Given the description of an element on the screen output the (x, y) to click on. 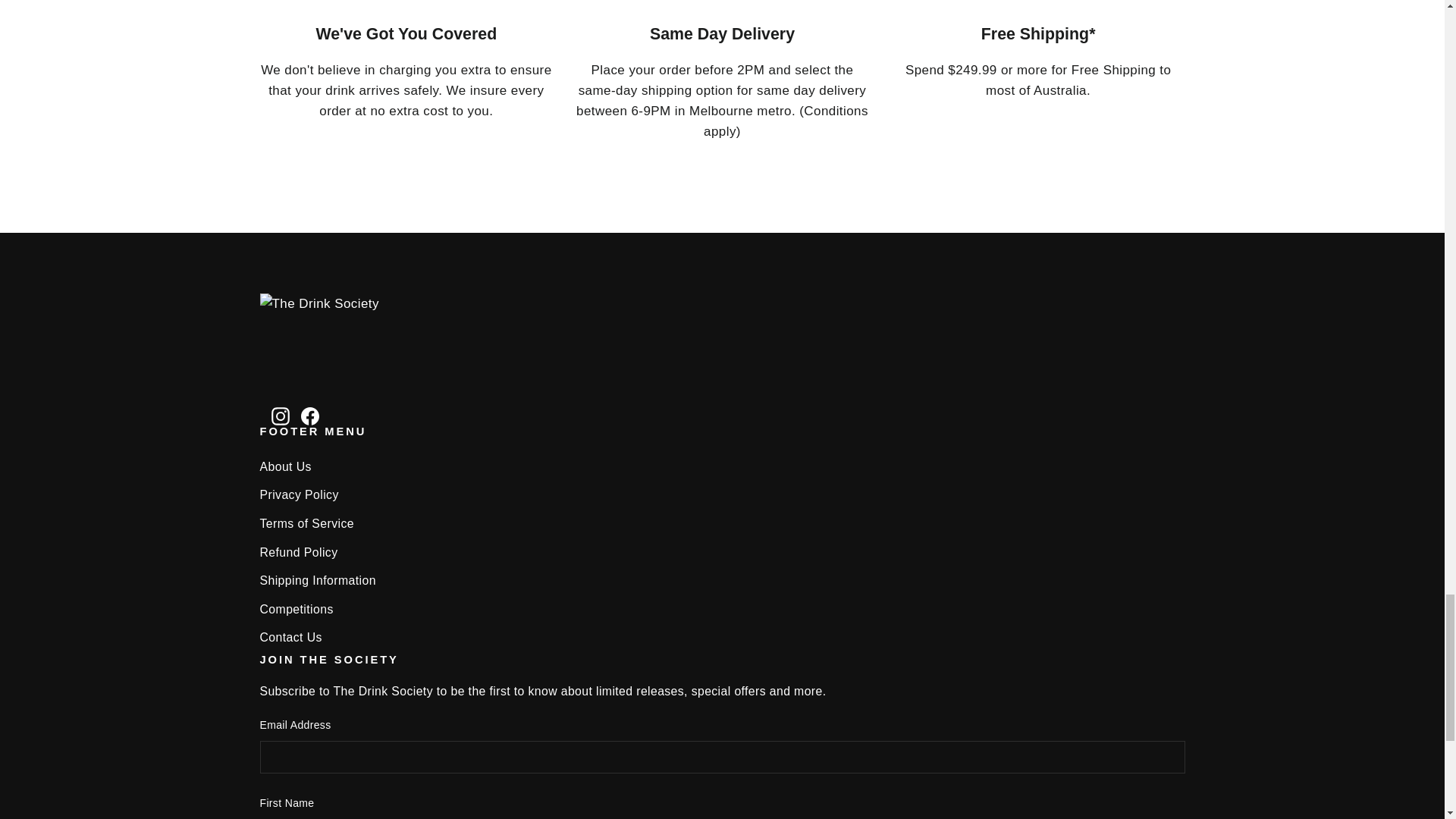
The Drink Society on Instagram (279, 414)
The Drink Society on Facebook (308, 414)
